Given the description of an element on the screen output the (x, y) to click on. 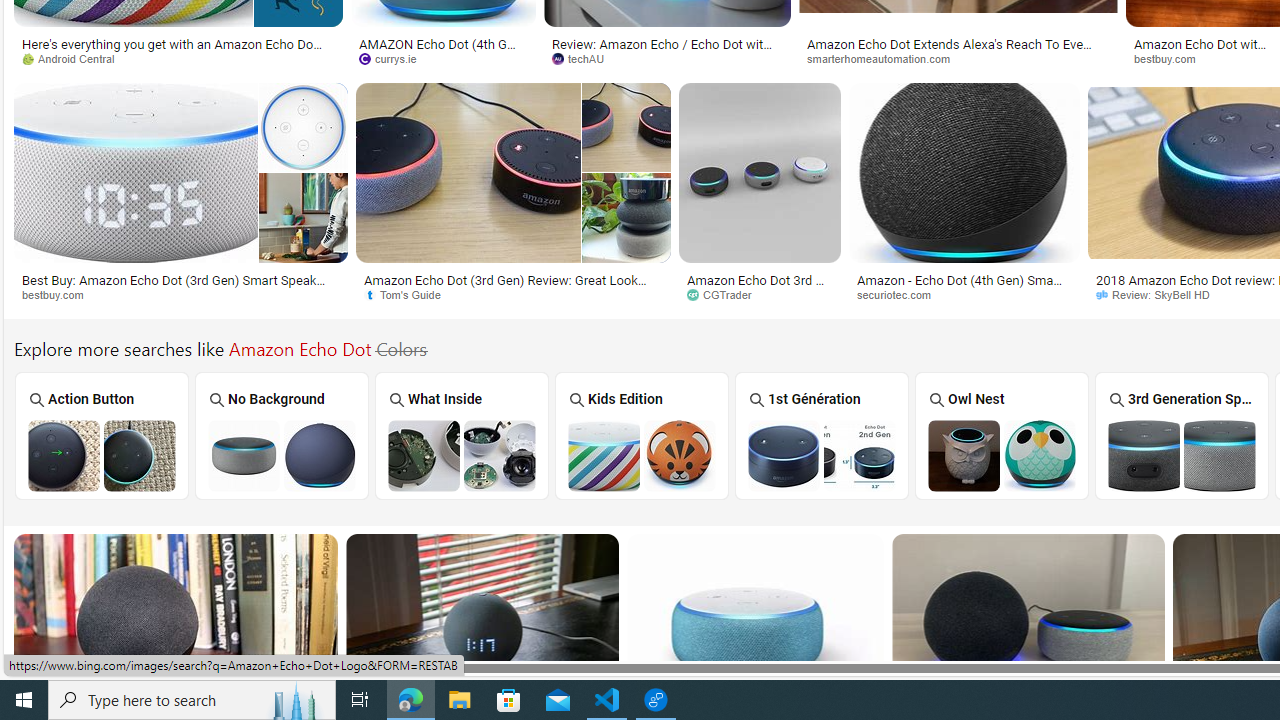
Kids Edition (641, 435)
currys.ie (442, 58)
bestbuy.com (180, 295)
What Inside a Amazon Echo Dot (462, 455)
Amazon Echo Dot Photo No Background (281, 455)
